Given the description of an element on the screen output the (x, y) to click on. 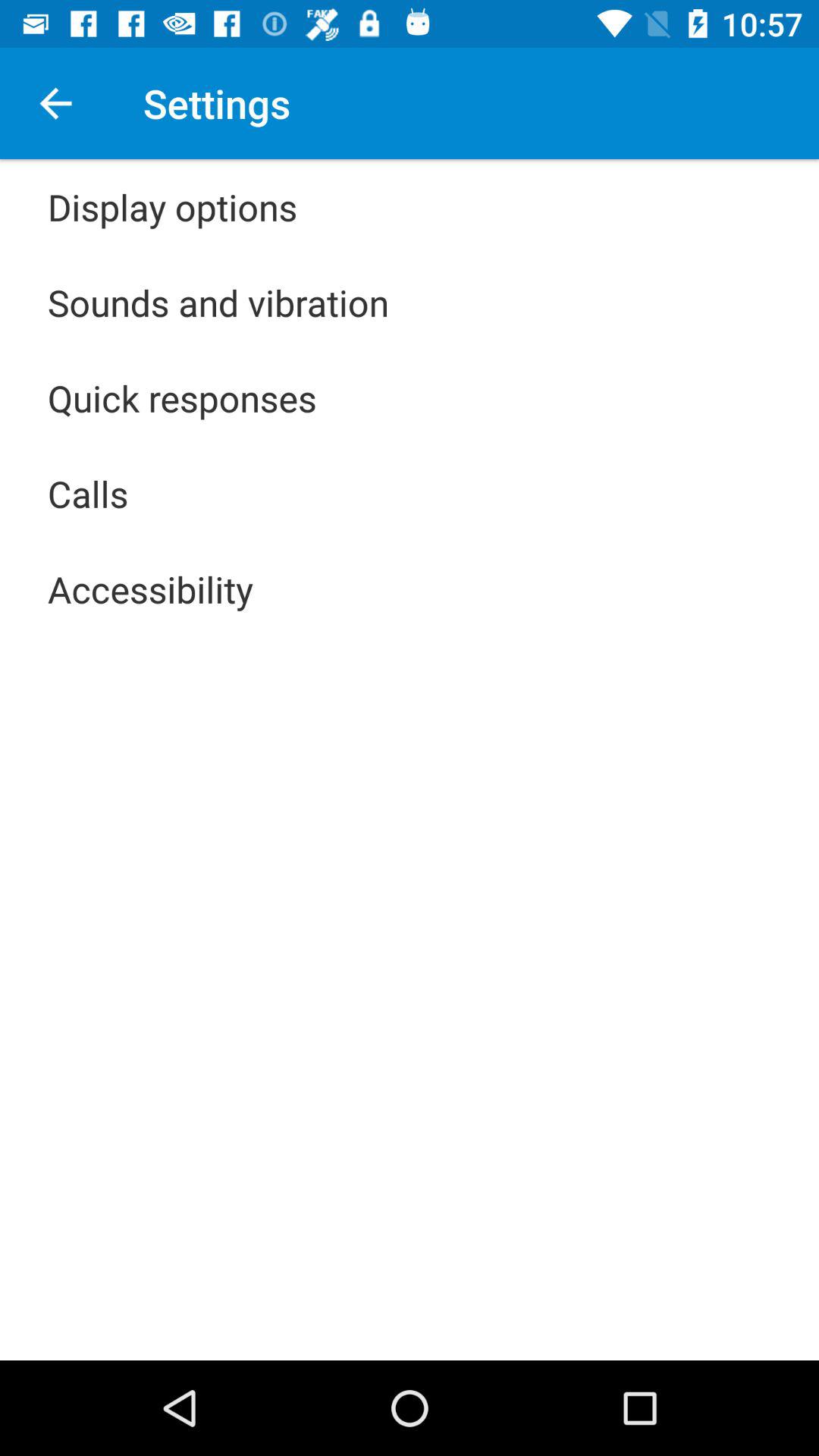
choose icon above sounds and vibration item (172, 206)
